Given the description of an element on the screen output the (x, y) to click on. 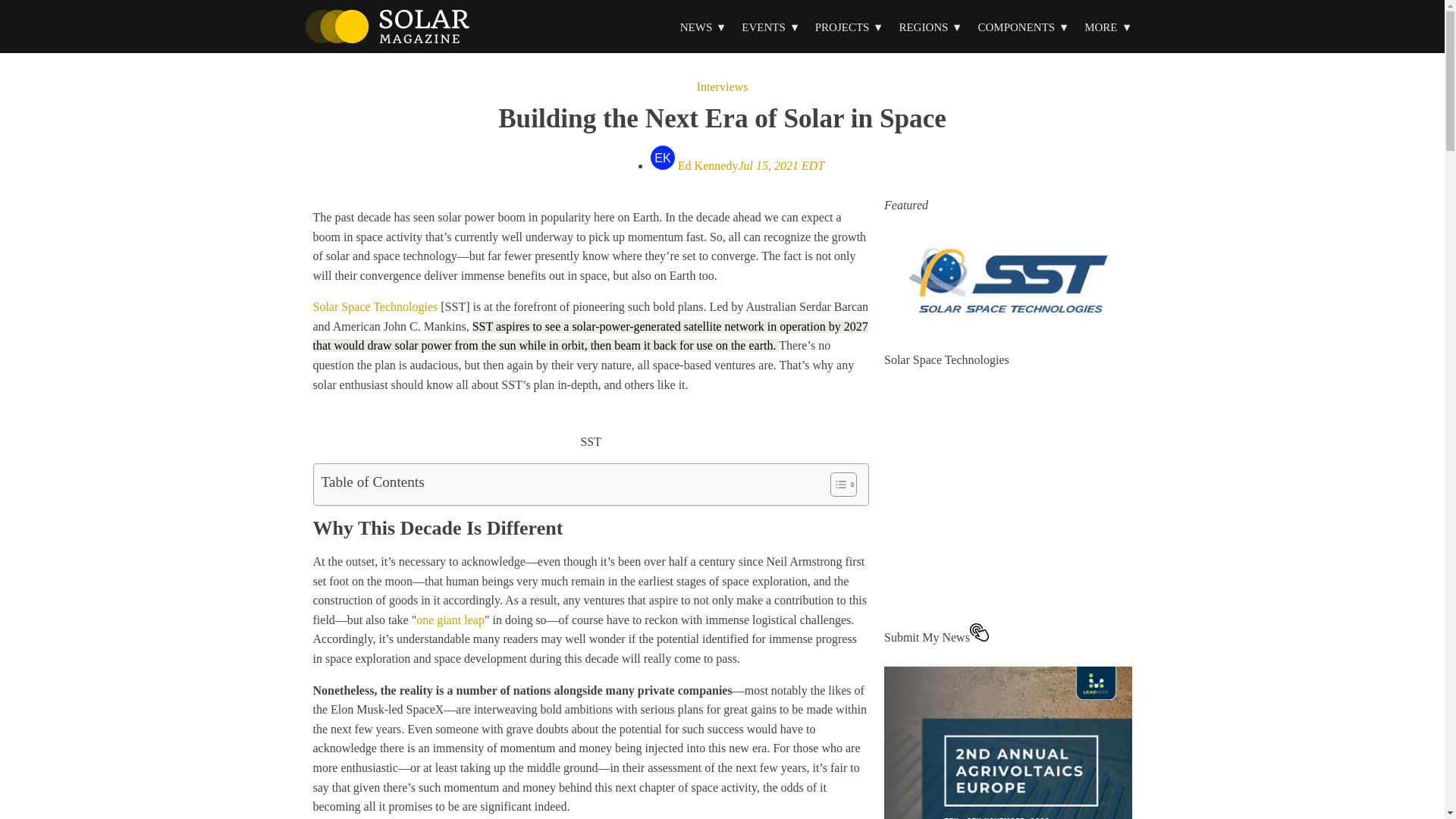
PROJECTS (849, 27)
COMPONENTS (1023, 27)
EVENTS (770, 27)
MORE (1107, 27)
REGIONS (930, 27)
Tweet This! (590, 336)
View more articles by Ed Kennedy (737, 164)
NEWS (703, 27)
